Given the description of an element on the screen output the (x, y) to click on. 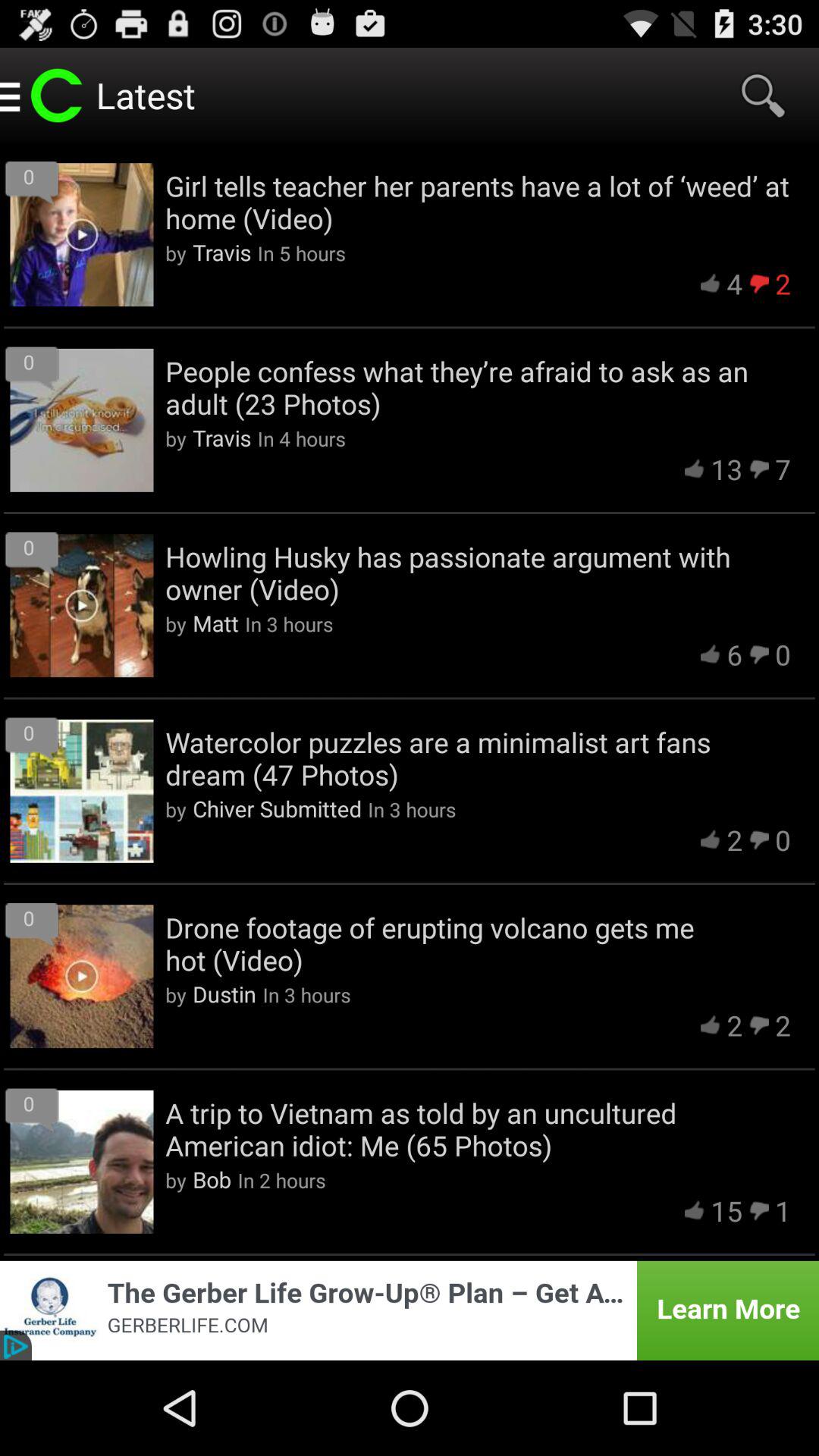
select the item to the right of the latest item (763, 95)
